Given the description of an element on the screen output the (x, y) to click on. 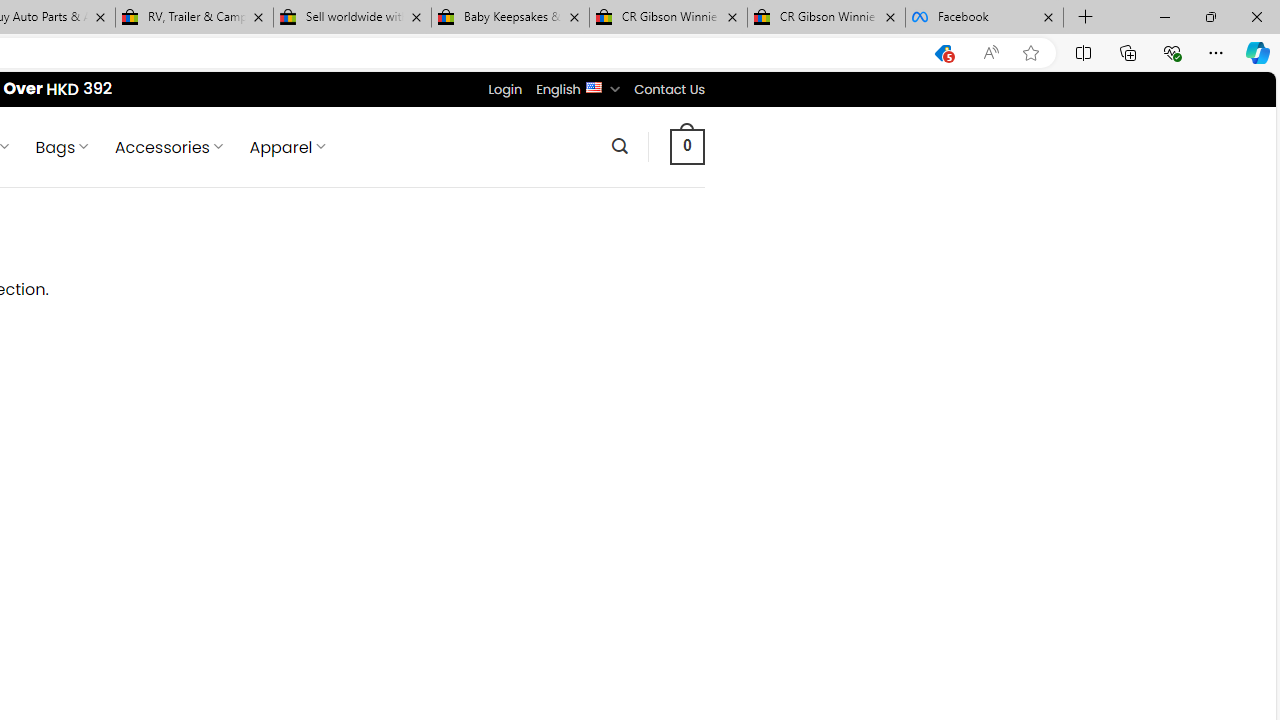
  0   (687, 146)
Minimize (1164, 16)
Settings and more (Alt+F) (1215, 52)
 0  (687, 146)
This site has coupons! Shopping in Microsoft Edge, 5 (943, 53)
Collections (1128, 52)
Login (505, 89)
Restore (1210, 16)
Read aloud this page (Ctrl+Shift+U) (991, 53)
Close tab (1048, 16)
Search (619, 146)
